Given the description of an element on the screen output the (x, y) to click on. 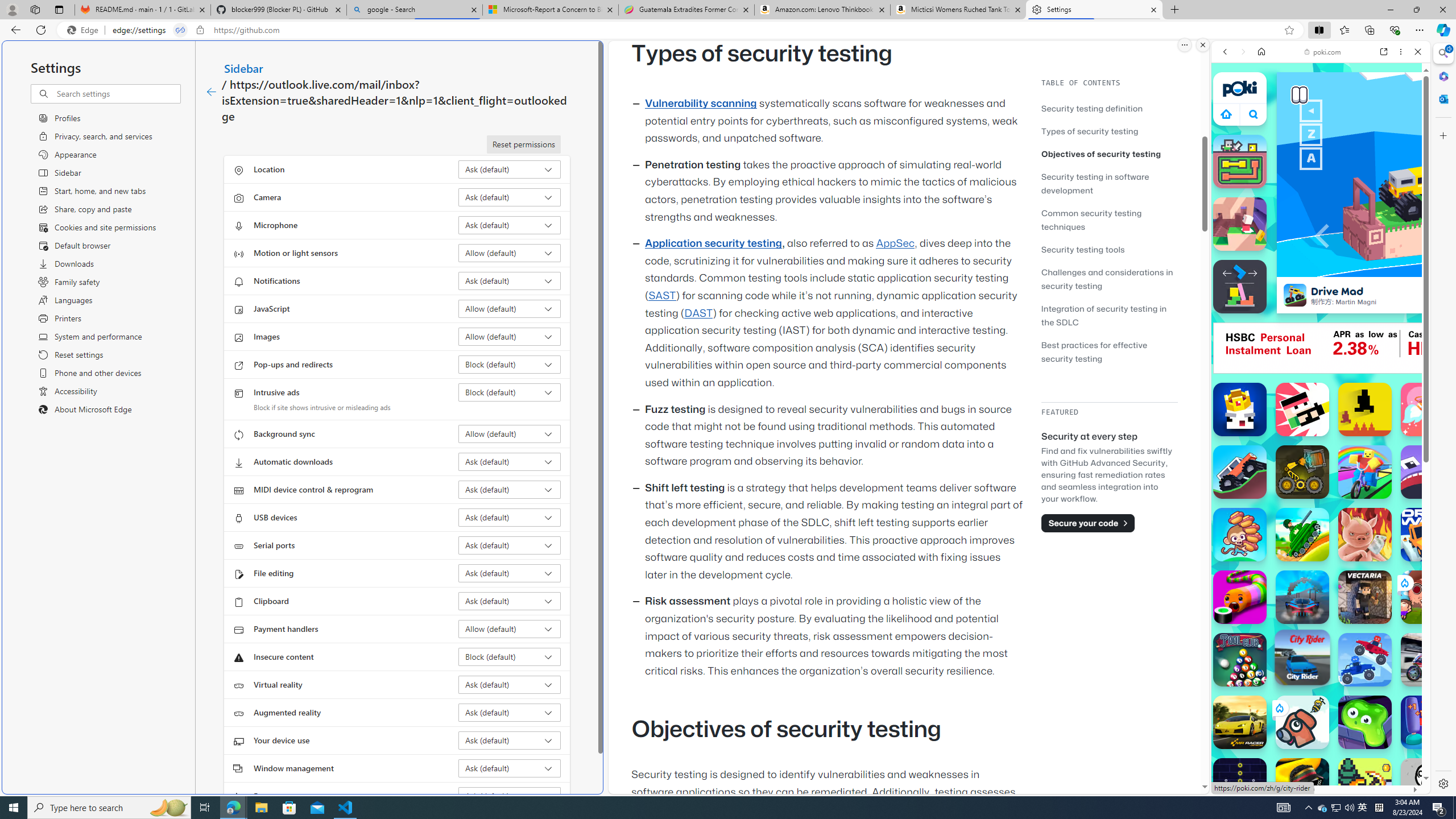
Camera Ask (default) (509, 197)
Edge (84, 29)
Monster Tracks Monster Tracks (1239, 471)
WEB   (1230, 130)
Wall of Doom Wall of Doom (1239, 223)
Secure your code (1088, 522)
Vectaria.io Vectaria.io (1364, 597)
Driftwave Driftwave (1427, 534)
Reset permissions (523, 144)
Pool Club (1239, 659)
